Given the description of an element on the screen output the (x, y) to click on. 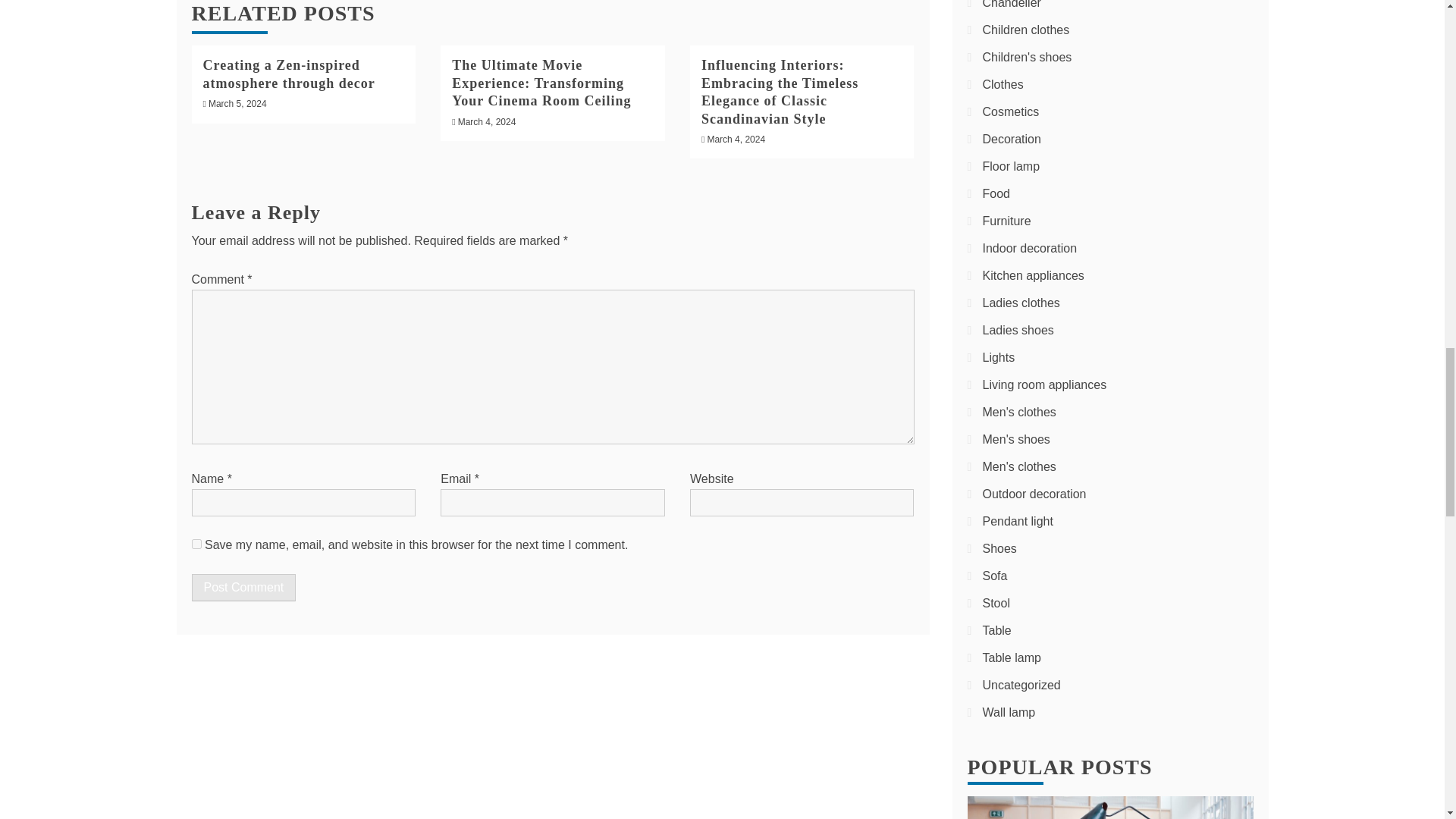
yes (195, 543)
Post Comment (242, 587)
